Given the description of an element on the screen output the (x, y) to click on. 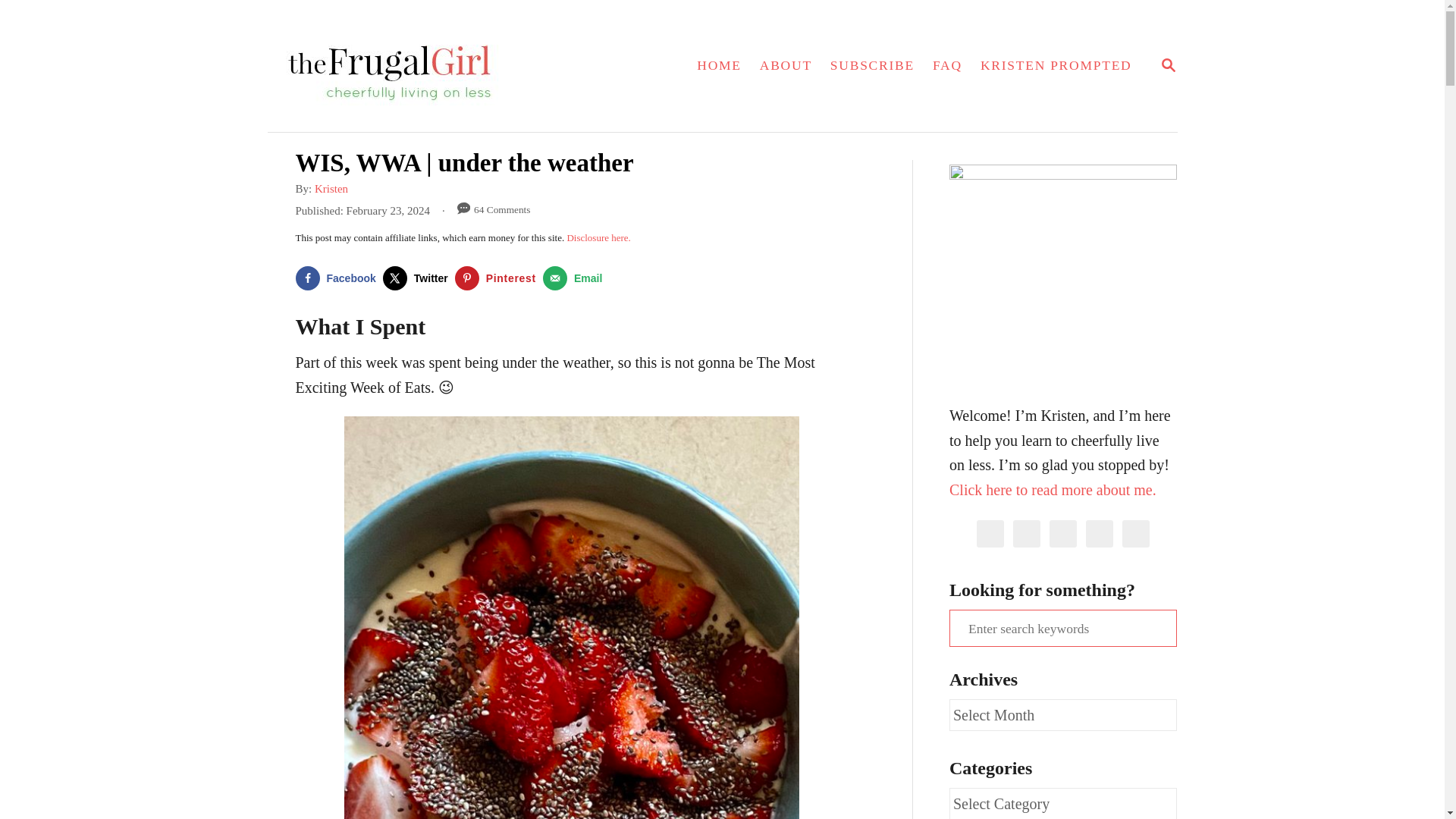
The Frugal Girl (428, 65)
Twitter (418, 278)
Facebook (338, 278)
SUBSCRIBE (872, 65)
Click here to read more about me. (1052, 488)
Search (22, 22)
Search for: (1062, 628)
Send over email (575, 278)
Pinterest (498, 278)
Kristen (1167, 65)
MAGNIFYING GLASS (330, 188)
Email (1167, 65)
HOME (575, 278)
Share on Facebook (719, 65)
